Given the description of an element on the screen output the (x, y) to click on. 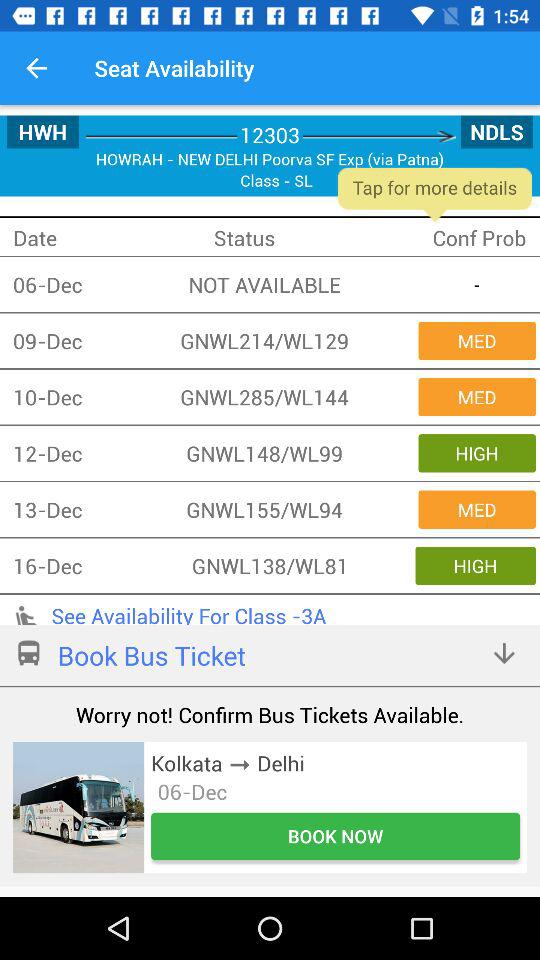
flip to the book now (335, 836)
